Given the description of an element on the screen output the (x, y) to click on. 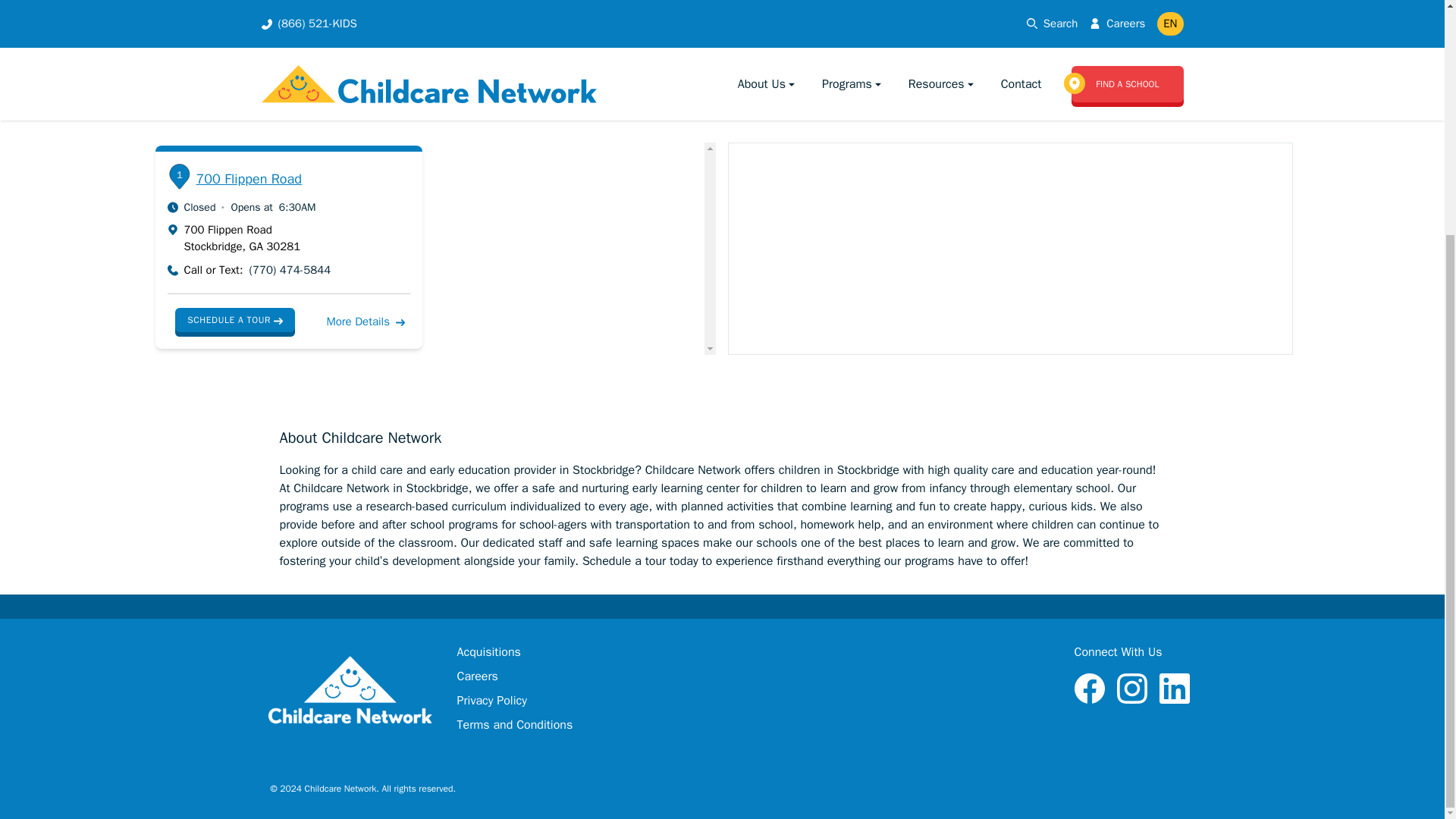
Find a School (390, 72)
Home (306, 72)
